Given the description of an element on the screen output the (x, y) to click on. 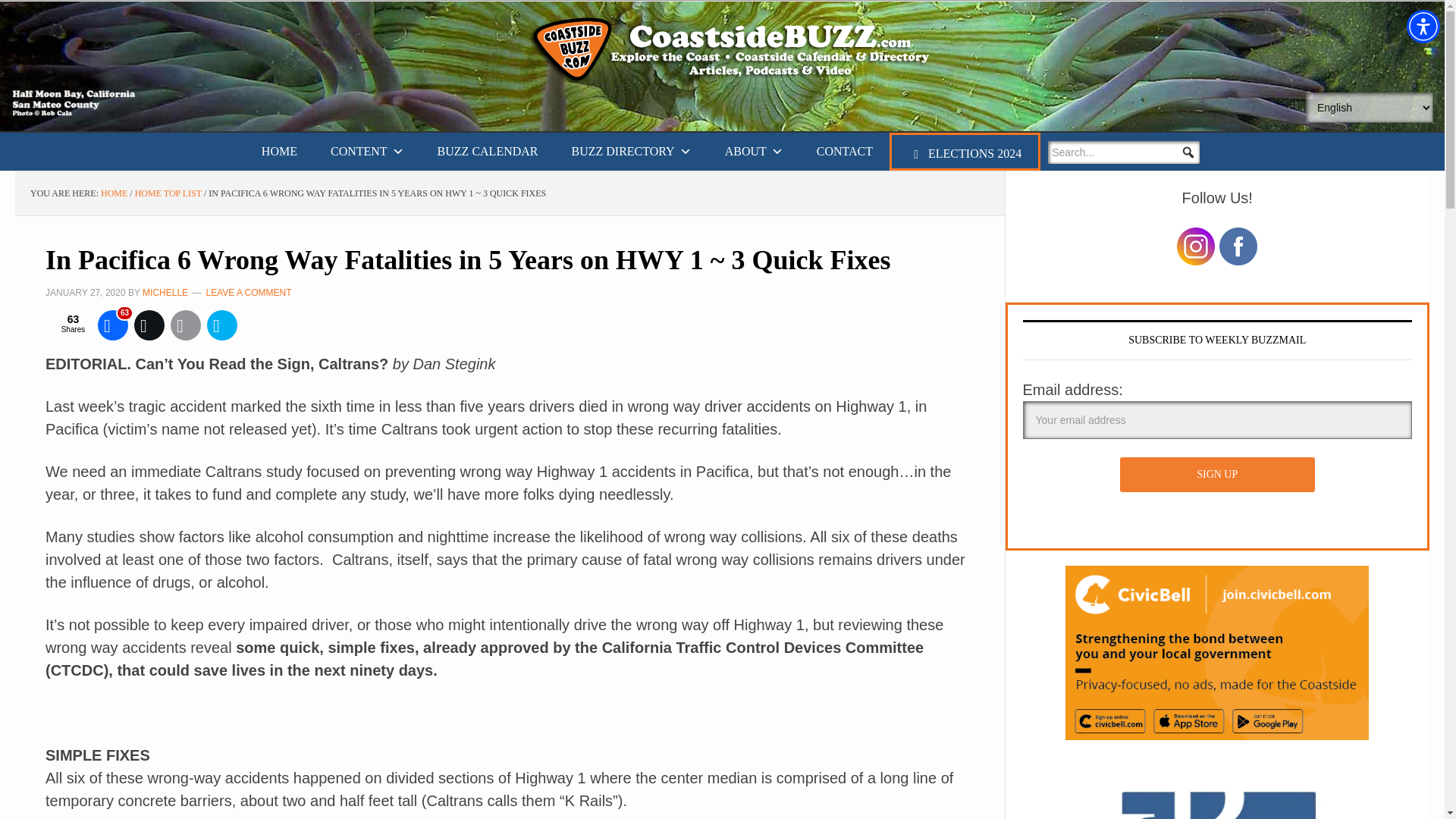
Facebook (112, 325)
PrintFriendly (221, 325)
Sign up (1216, 474)
Coastside Buzz (737, 50)
HOME (279, 151)
BUZZ DIRECTORY (630, 151)
CONTENT (367, 151)
BUZZ CALENDAR (487, 151)
Email This (185, 325)
Accessibility Menu (1422, 26)
